Given the description of an element on the screen output the (x, y) to click on. 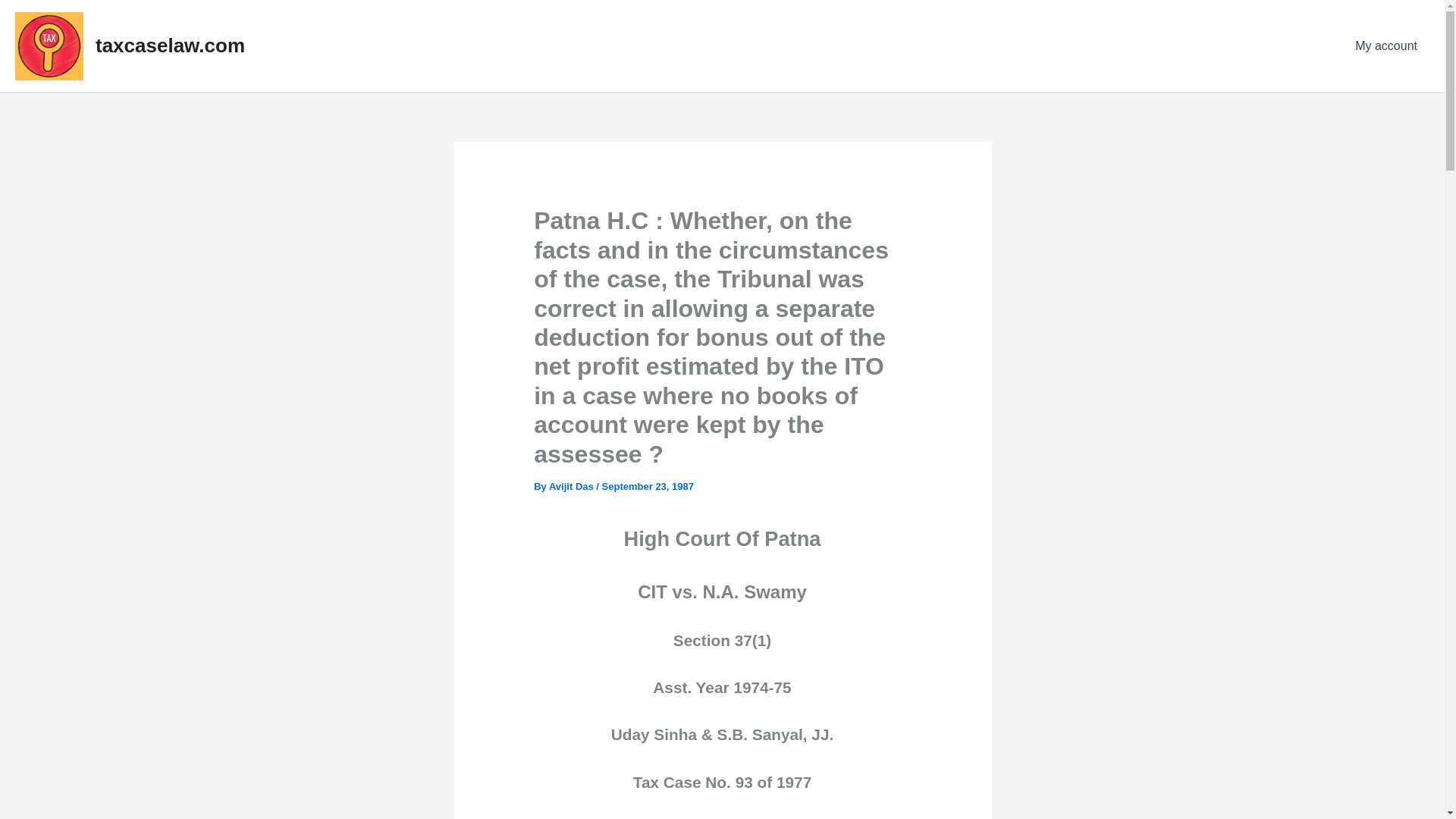
My account (1385, 45)
Avijit Das (571, 486)
taxcaselaw.com (170, 45)
View all posts by Avijit Das (571, 486)
